Given the description of an element on the screen output the (x, y) to click on. 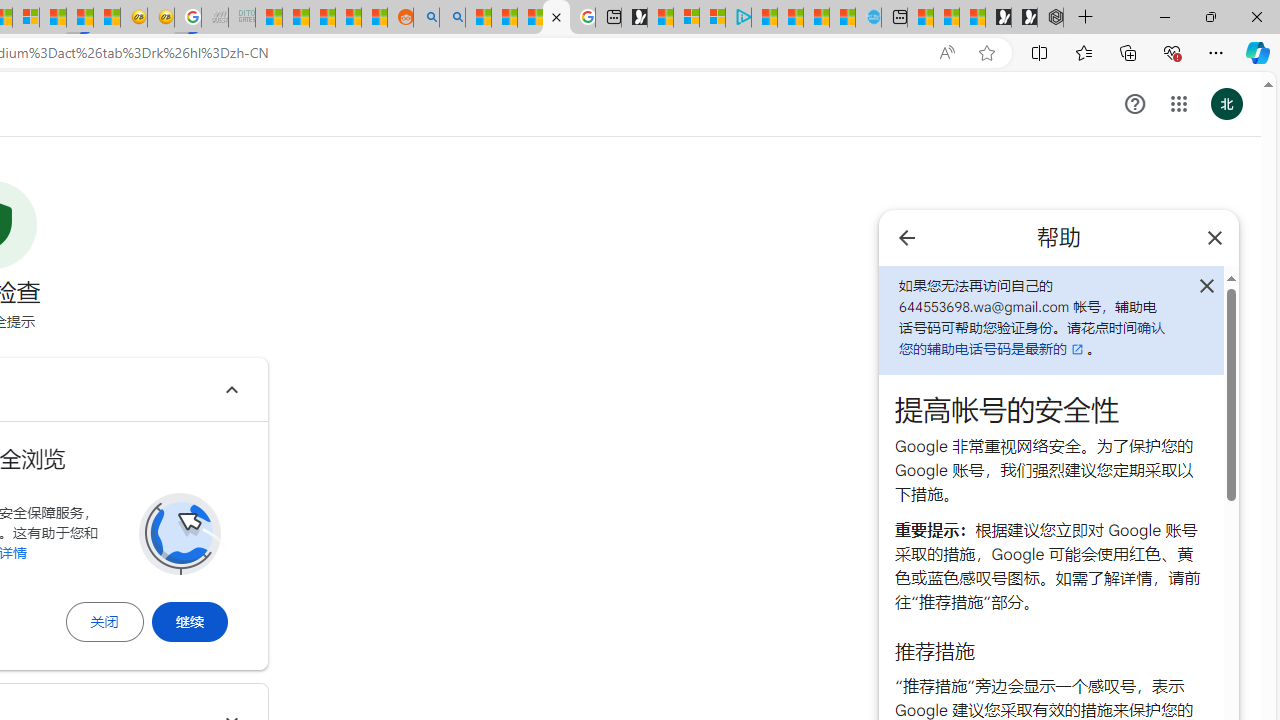
Utah sues federal government - Search (452, 17)
Student Loan Update: Forgiveness Program Ends This Month (347, 17)
